Given the description of an element on the screen output the (x, y) to click on. 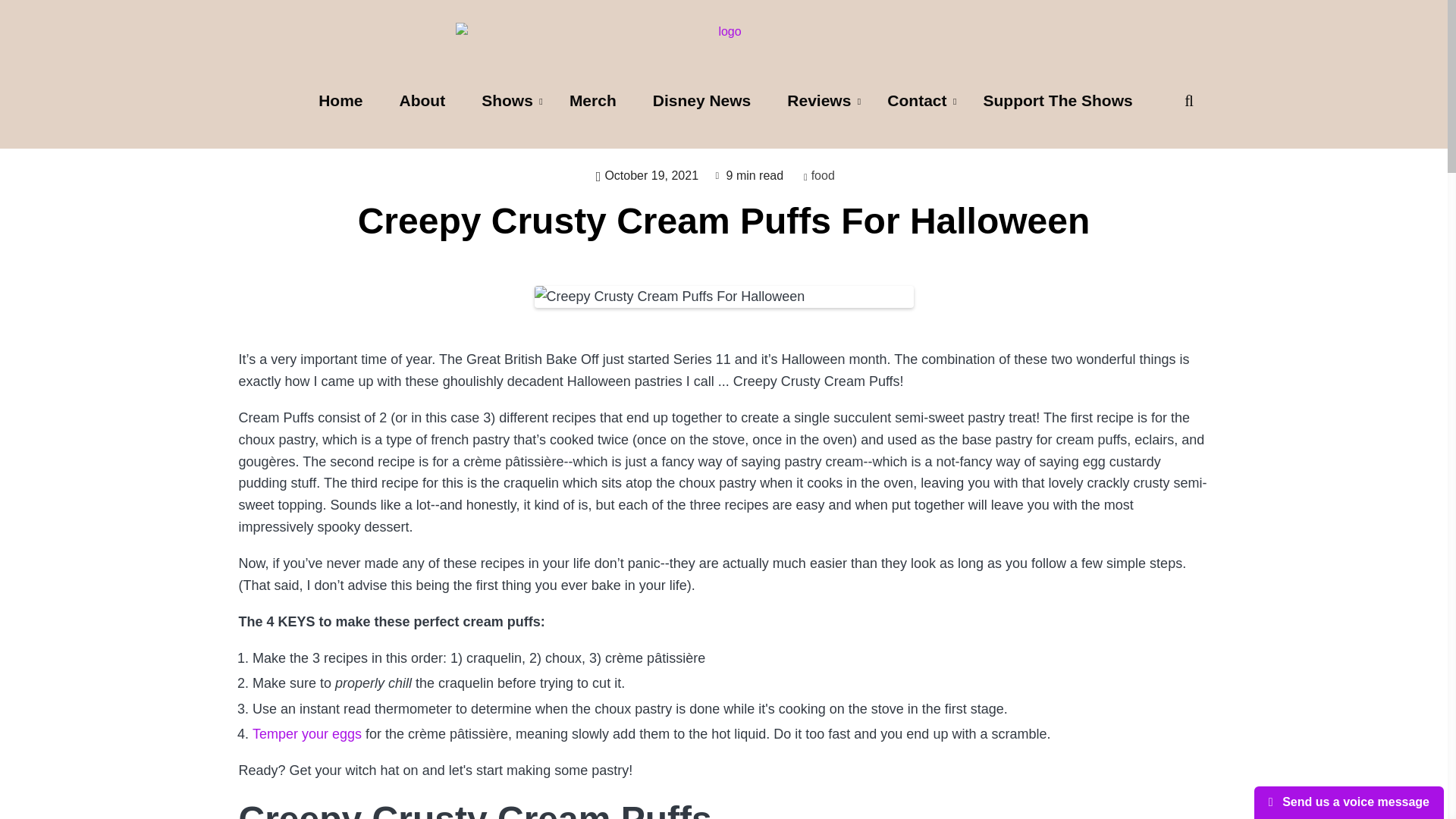
Send us a voice message (1348, 802)
Reviews (818, 100)
Home (339, 101)
Contact (916, 100)
Shows (507, 100)
Disney News (702, 101)
About (422, 101)
Send us a voice message (1348, 802)
Merch (592, 101)
Temper your eggs (306, 734)
food (822, 174)
Support The Shows (1058, 101)
